Given the description of an element on the screen output the (x, y) to click on. 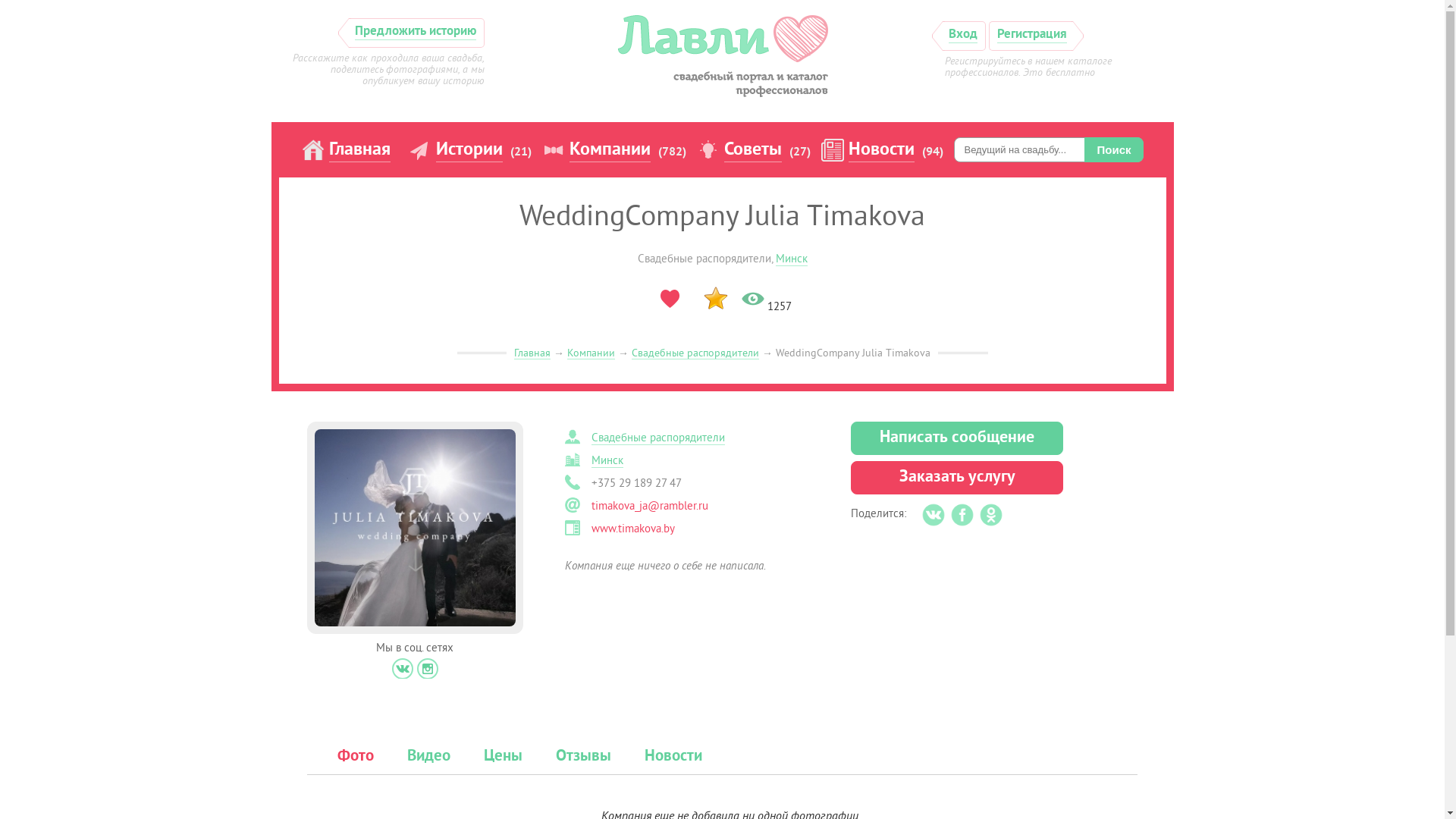
www.timakova.by Element type: text (632, 528)
timakova_ja@rambler.ru Element type: text (649, 505)
